Given the description of an element on the screen output the (x, y) to click on. 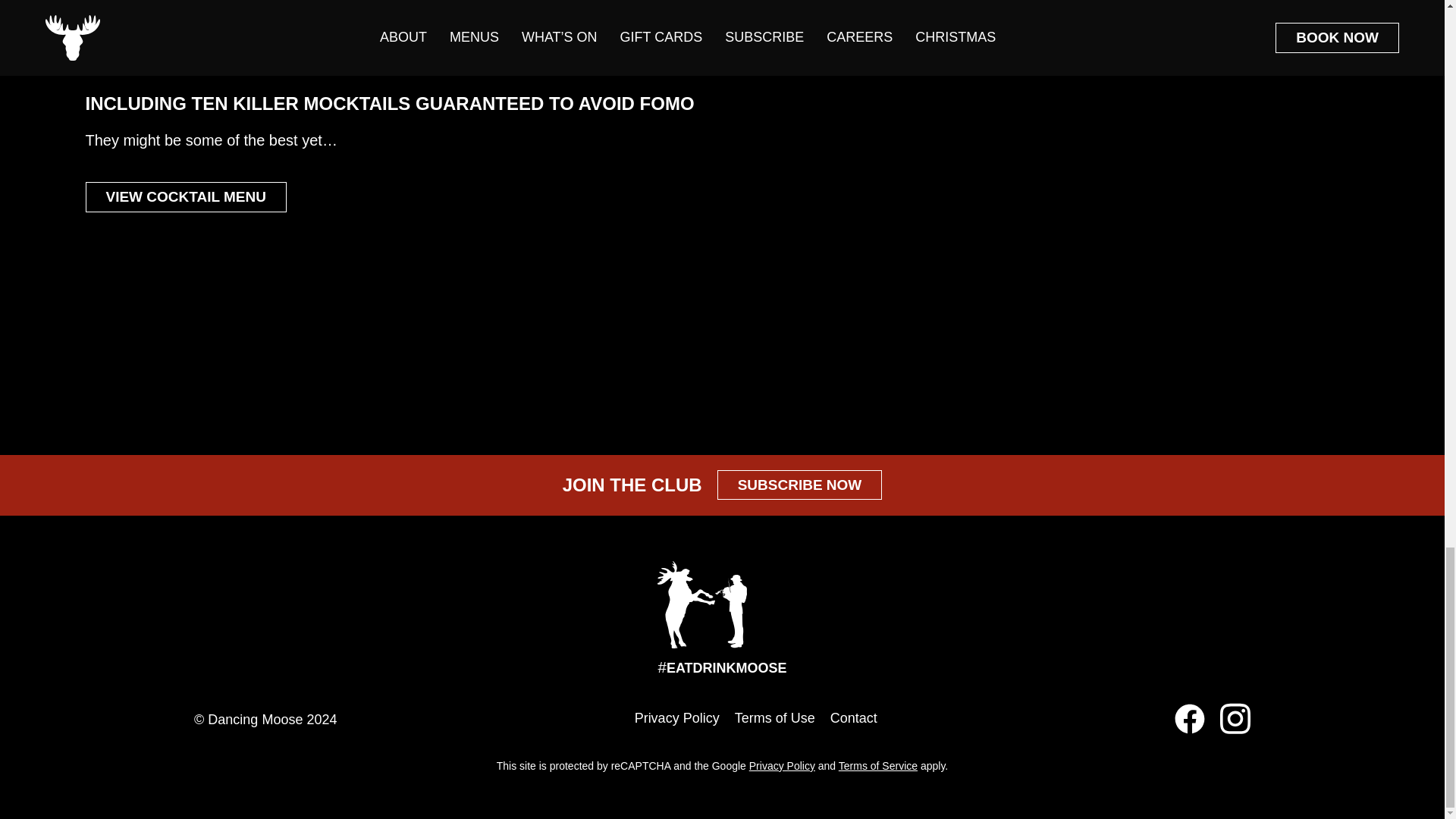
SUBSCRIBE NOW (799, 484)
Privacy Policy (676, 718)
Terms of Service (877, 766)
Contact (853, 718)
Privacy Policy (782, 766)
VIEW COCKTAIL MENU (184, 196)
Terms of Use (775, 718)
